Given the description of an element on the screen output the (x, y) to click on. 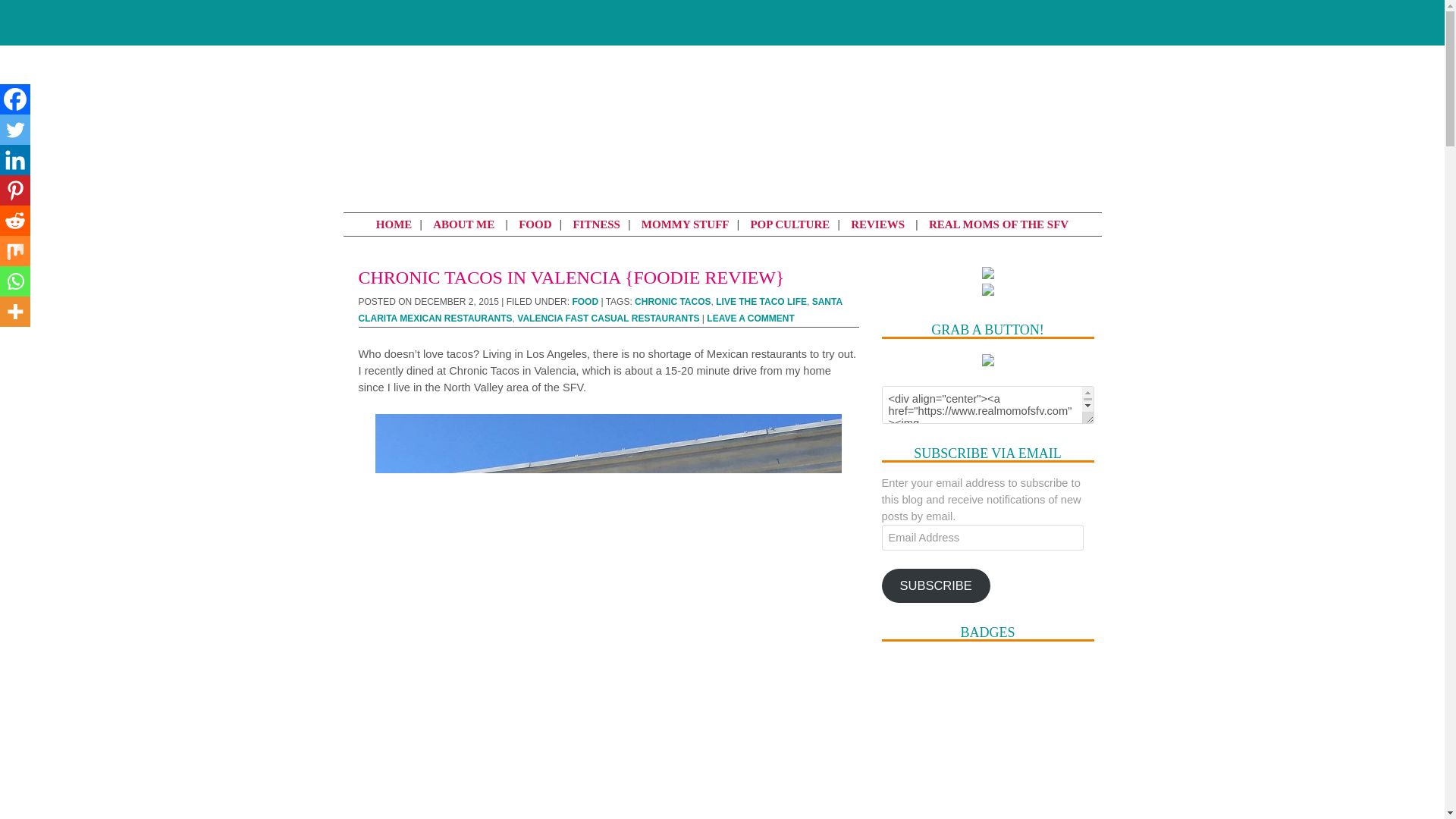
Twitter (15, 129)
FITNESS (595, 224)
Twitter (1087, 20)
POP CULTURE (789, 224)
VALENCIA FAST CASUAL RESTAURANTS (607, 317)
LEAVE A COMMENT (750, 317)
Linkedin (15, 159)
Email (1007, 20)
REVIEWS (877, 224)
LIVE THE TACO LIFE (761, 301)
